Given the description of an element on the screen output the (x, y) to click on. 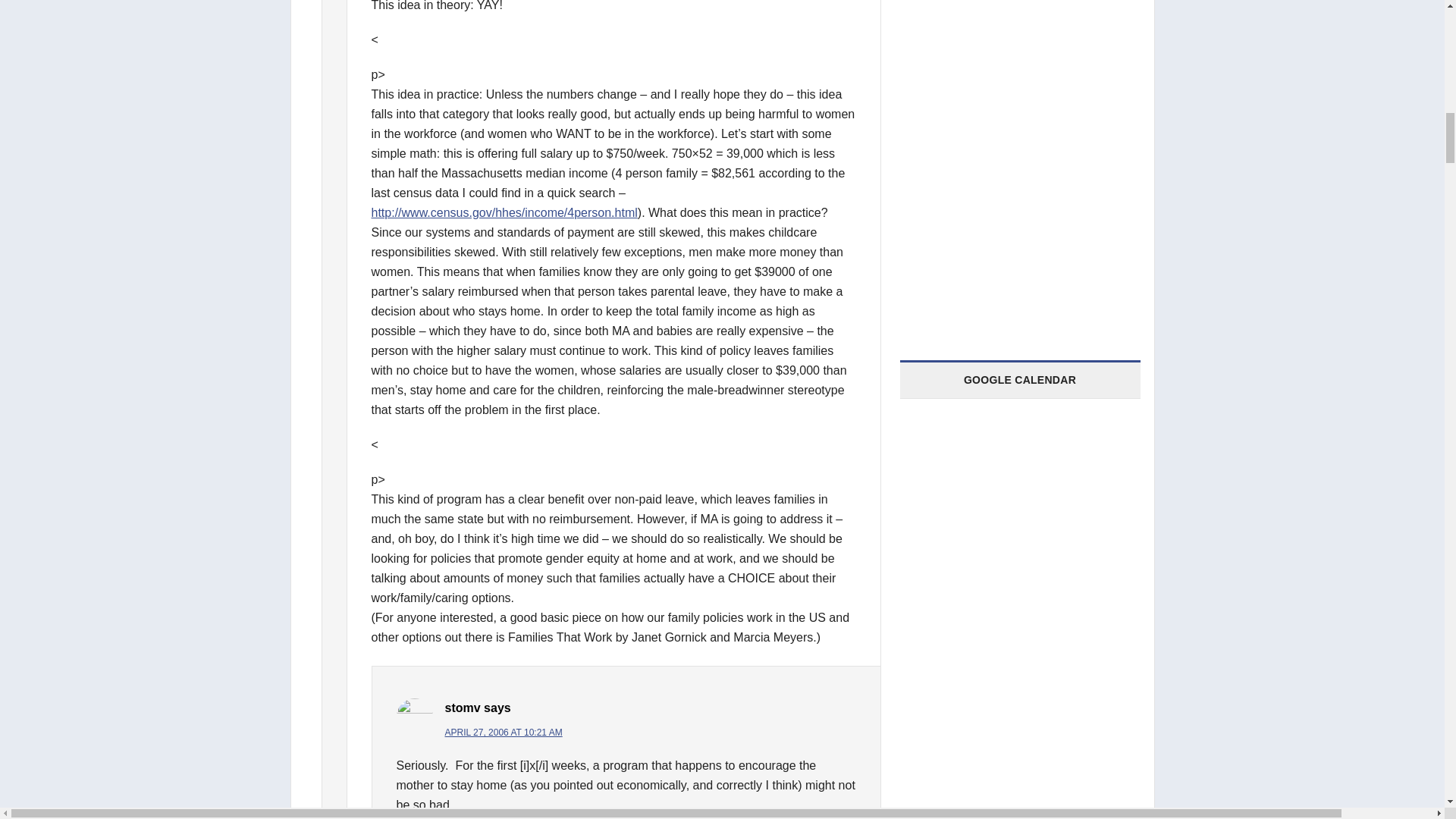
APRIL 27, 2006 AT 10:21 AM (503, 732)
